Given the description of an element on the screen output the (x, y) to click on. 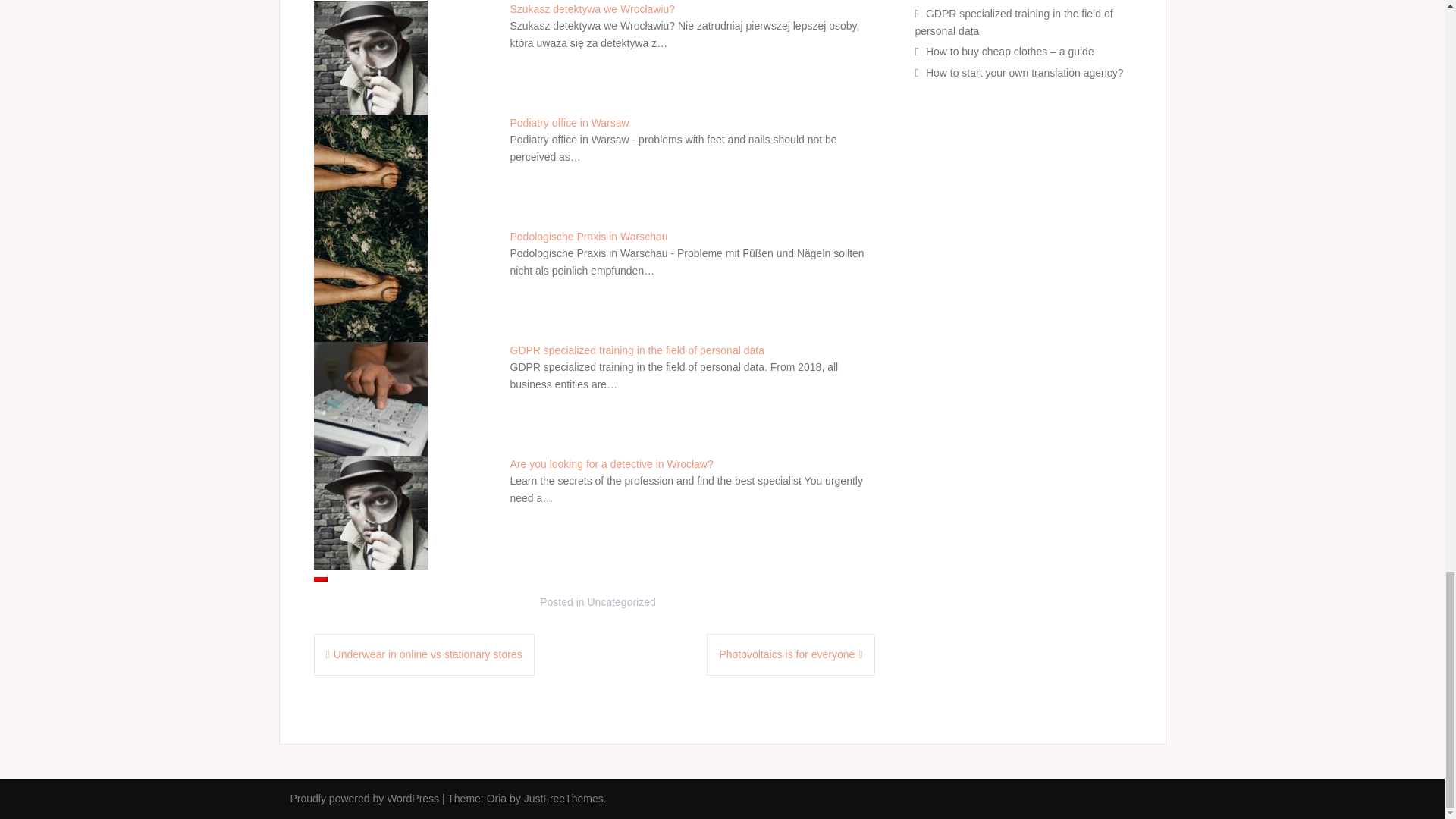
Podologische Praxis in Warschau (587, 236)
Underwear in online vs stationary stores (424, 654)
Podiatry office in Warsaw (568, 122)
Photovoltaics is for everyone (790, 654)
Uncategorized (620, 602)
GDPR specialized training in the field of personal data (635, 349)
